Given the description of an element on the screen output the (x, y) to click on. 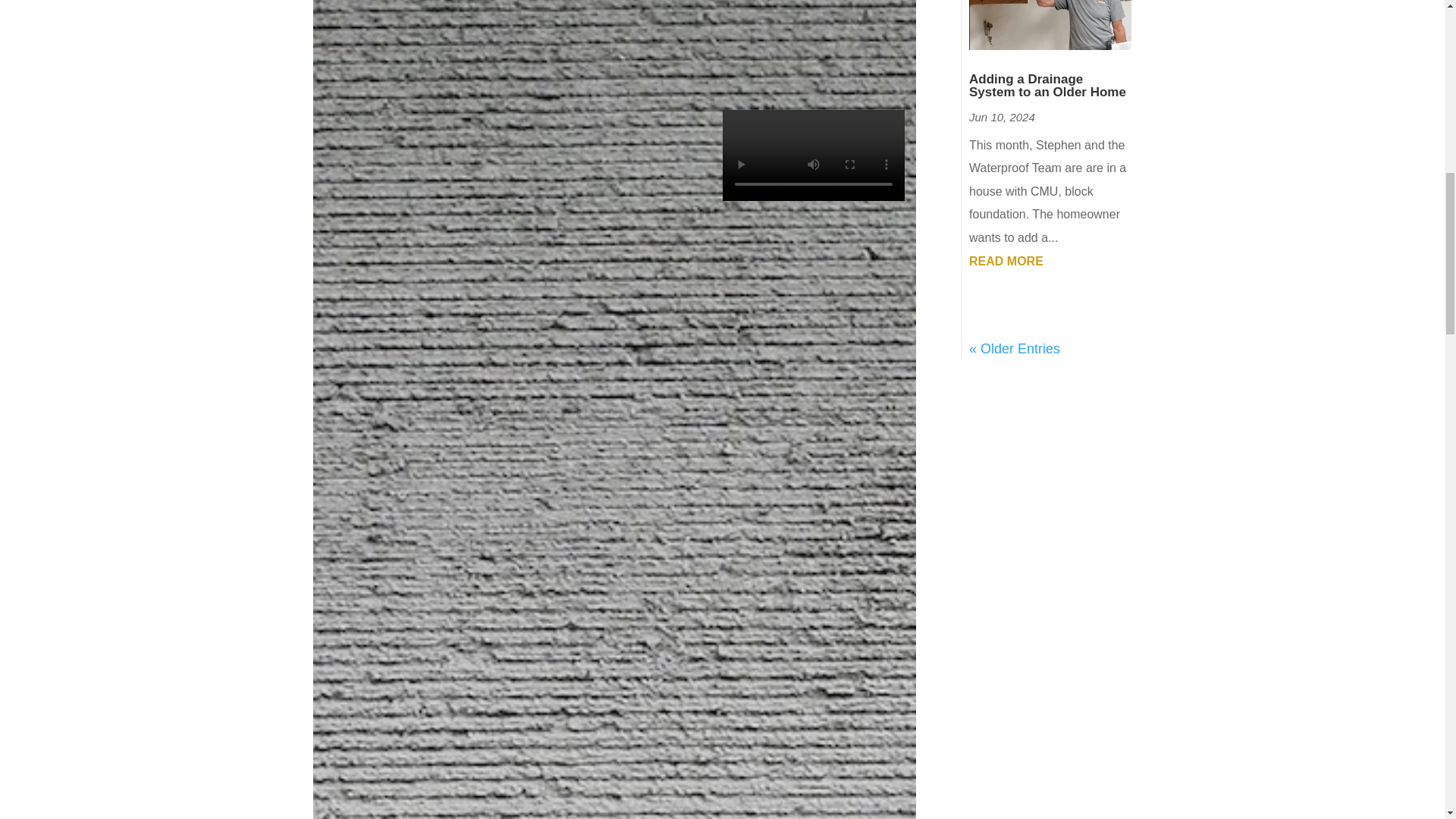
YouTube video player (813, 34)
YouTube video player (613, 34)
YouTube video player (415, 34)
